Given the description of an element on the screen output the (x, y) to click on. 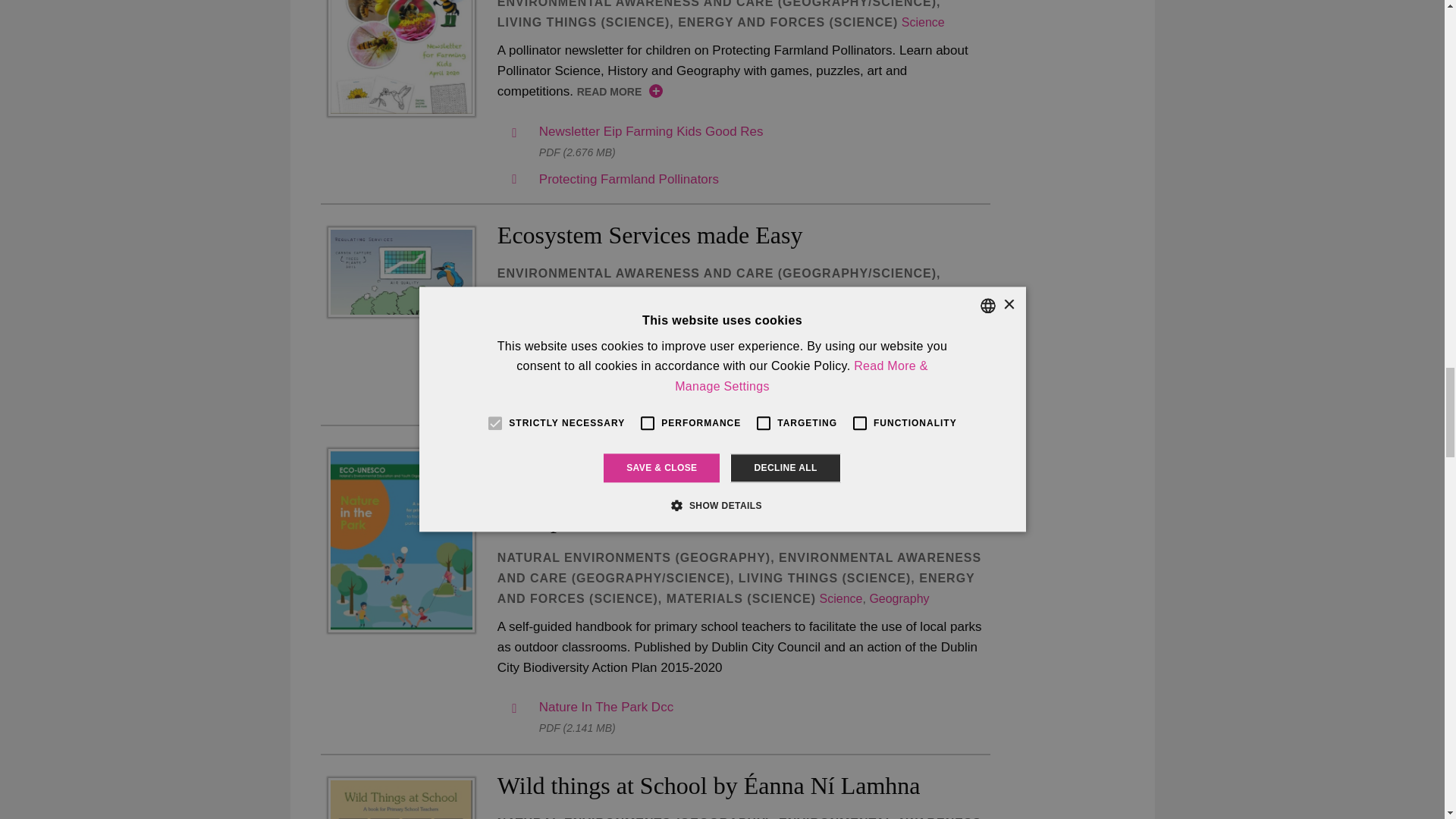
Ecosystem Services made Easy (400, 272)
